Given the description of an element on the screen output the (x, y) to click on. 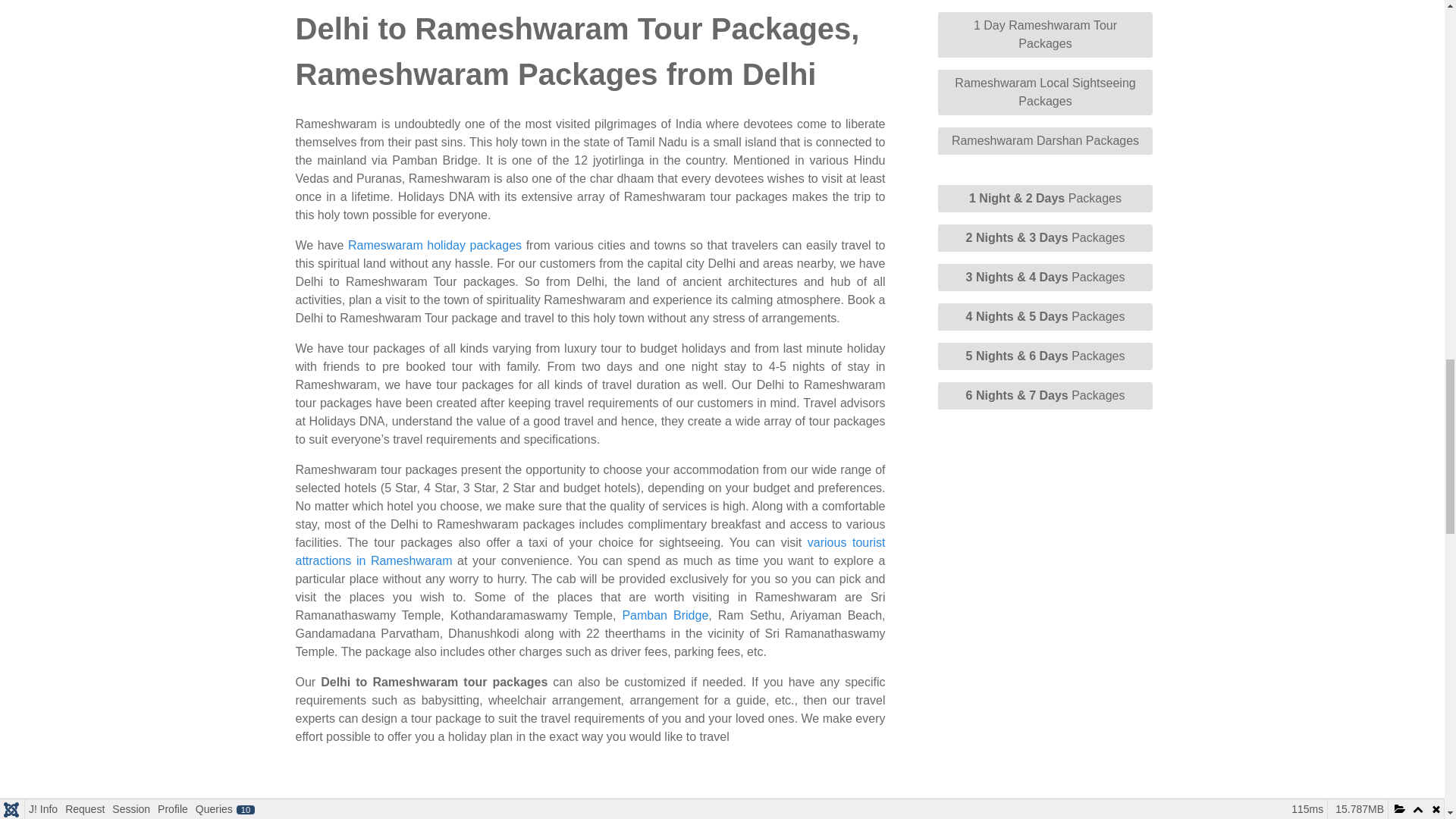
1 Day Rameshwaram Tour Packages (1045, 34)
Rameswaram holiday packages (434, 245)
Rameshwaram Darshan Packages (1045, 140)
Rameshwaram Local Sightseeing Packages (1045, 92)
Pamban Bridge (664, 615)
various tourist attractions in Rameshwaram (590, 551)
